Given the description of an element on the screen output the (x, y) to click on. 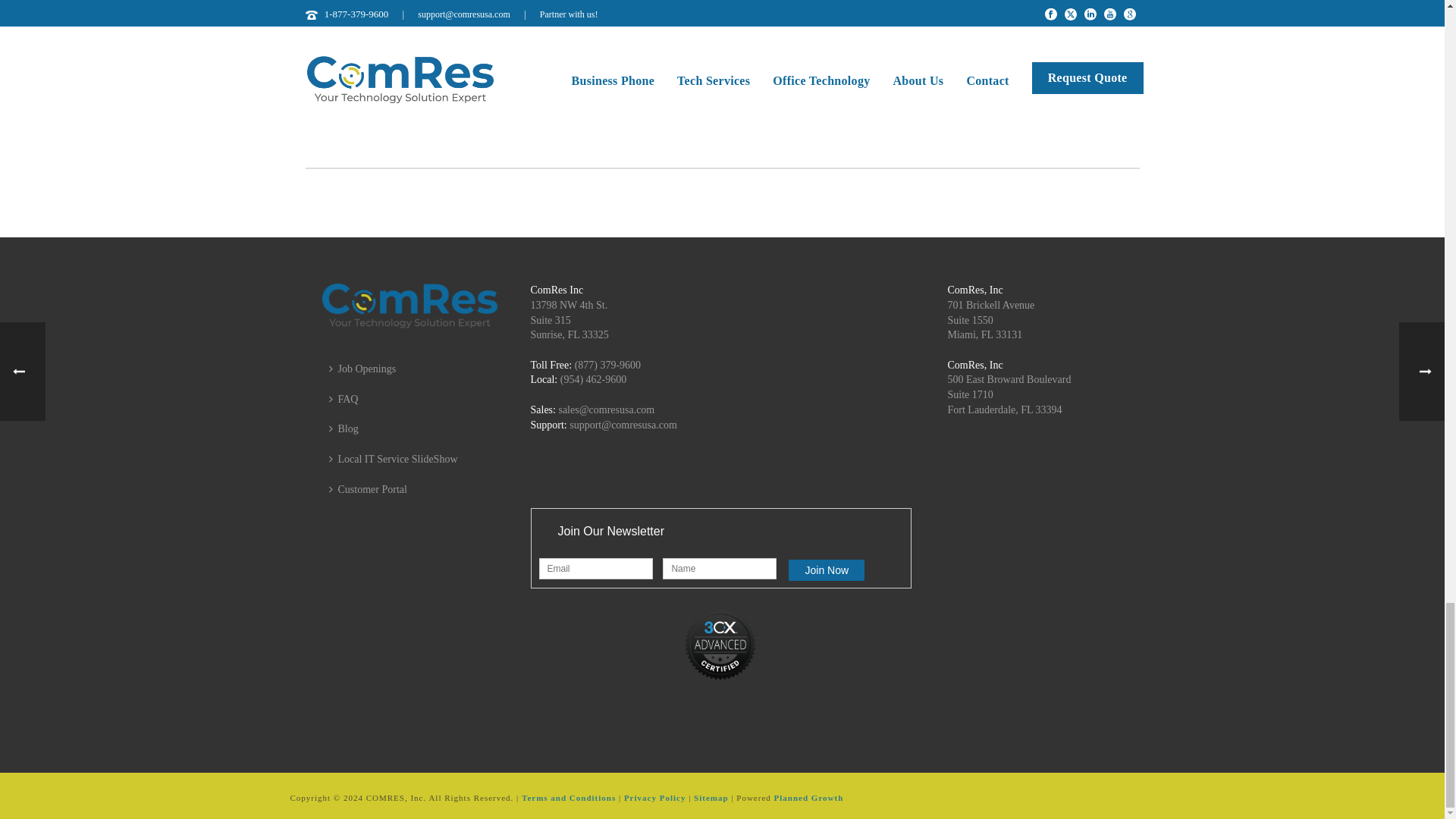
THE POWER OF PROACTIVE MONITORING (619, 110)
The Power of Proactive Monitoring (619, 46)
Join Now (826, 569)
